Given the description of an element on the screen output the (x, y) to click on. 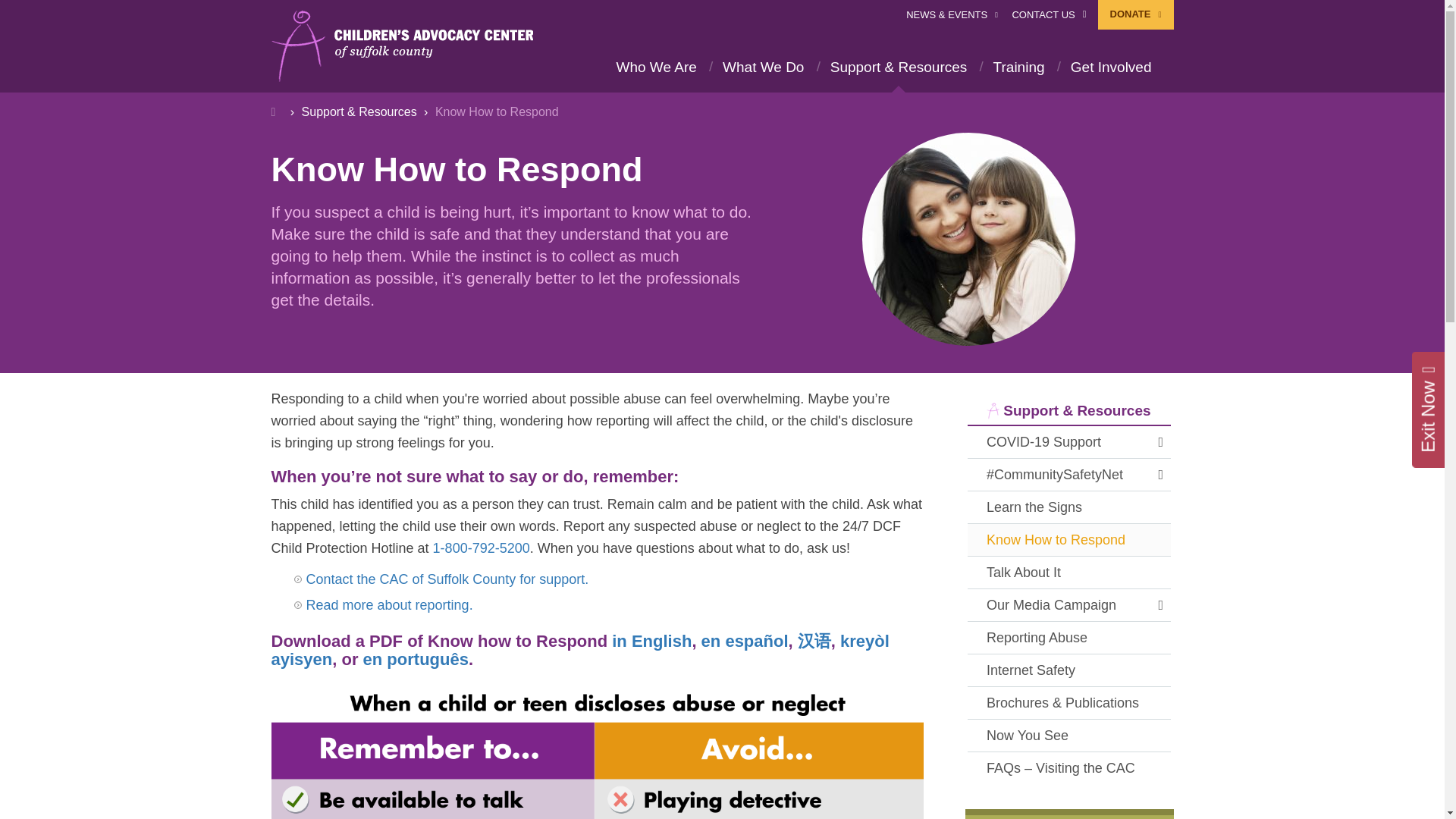
What We Do (762, 66)
DONATE (1135, 14)
CONTACT US (1048, 14)
Who We Are (655, 66)
Training (1018, 66)
